Given the description of an element on the screen output the (x, y) to click on. 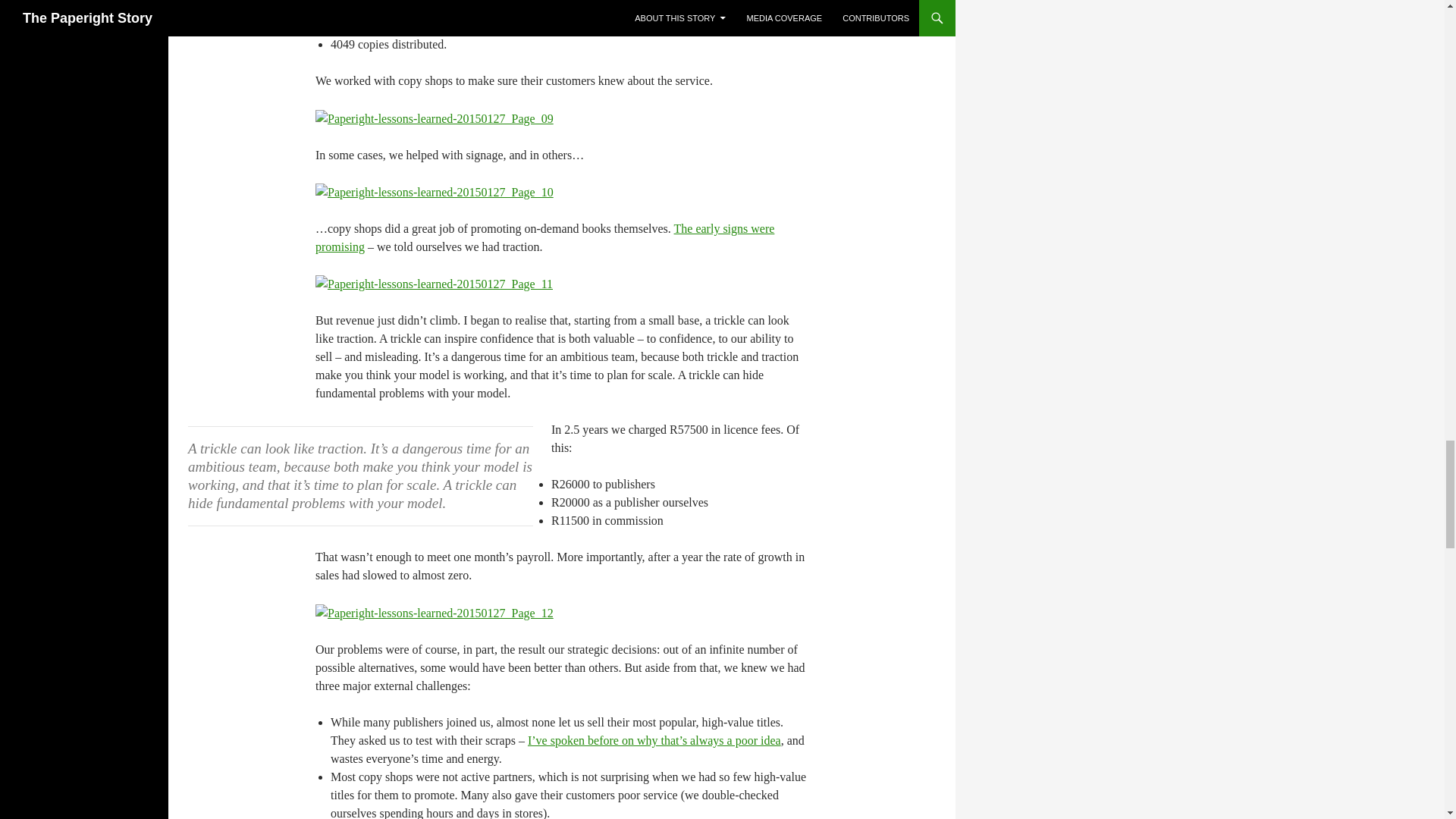
Thirty months of Paperight metrics (544, 237)
